Given the description of an element on the screen output the (x, y) to click on. 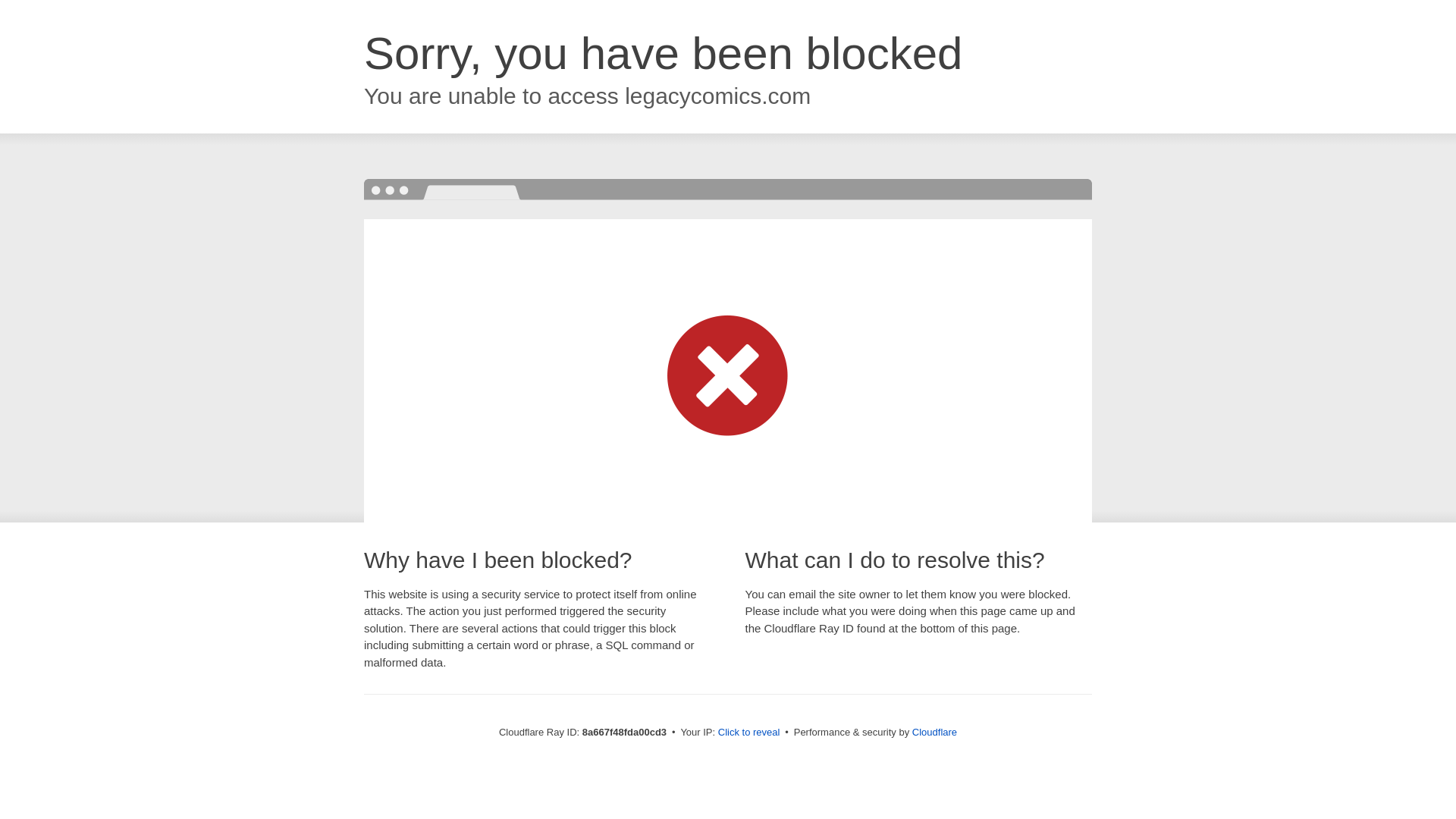
Click to reveal (748, 732)
Cloudflare (934, 731)
